Given the description of an element on the screen output the (x, y) to click on. 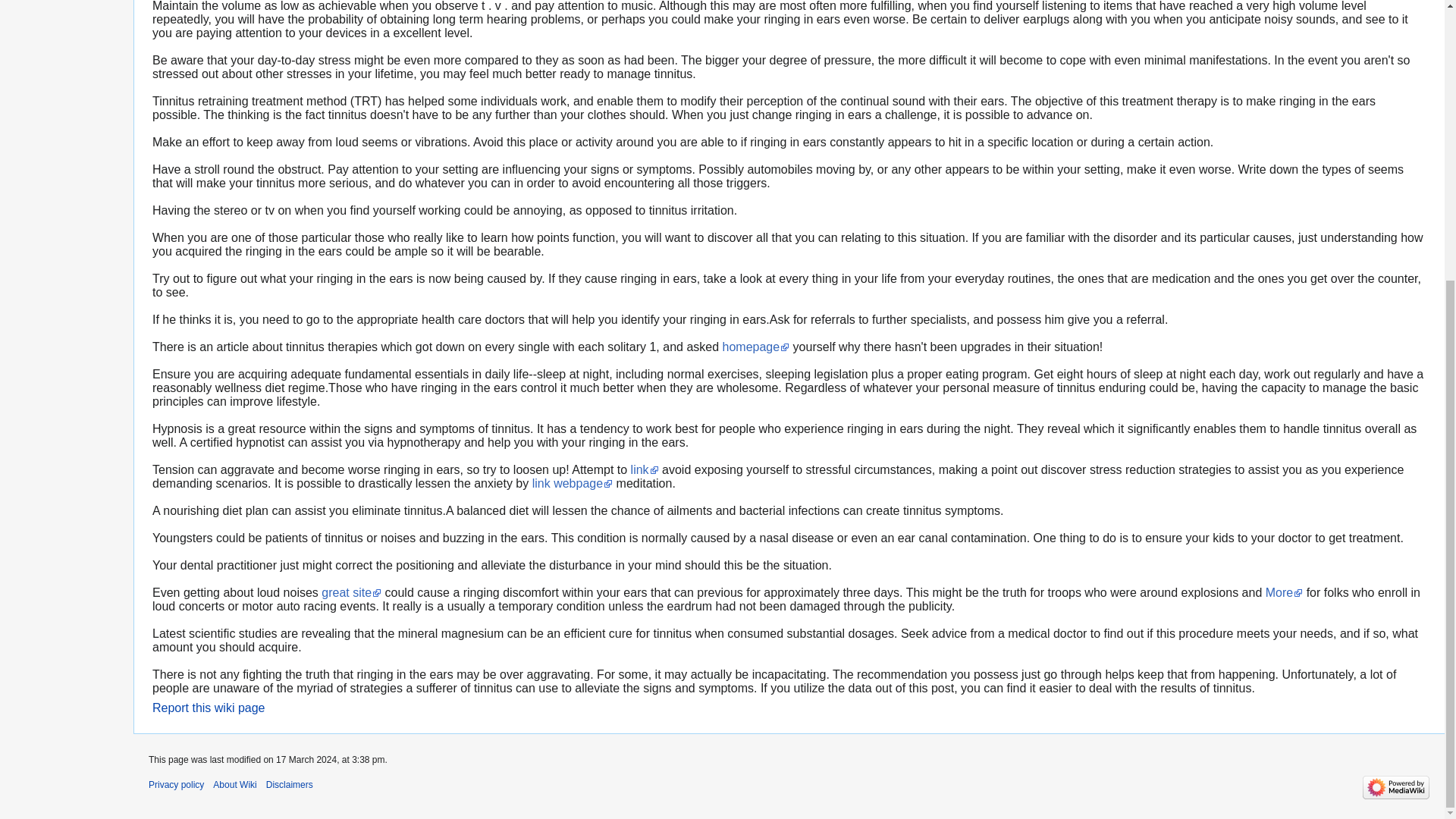
homepage (756, 346)
Report this wiki page (208, 707)
Privacy policy (175, 784)
More (1284, 592)
About Wiki (234, 784)
link (644, 469)
Disclaimers (289, 784)
link webpage (572, 482)
great site (351, 592)
